Given the description of an element on the screen output the (x, y) to click on. 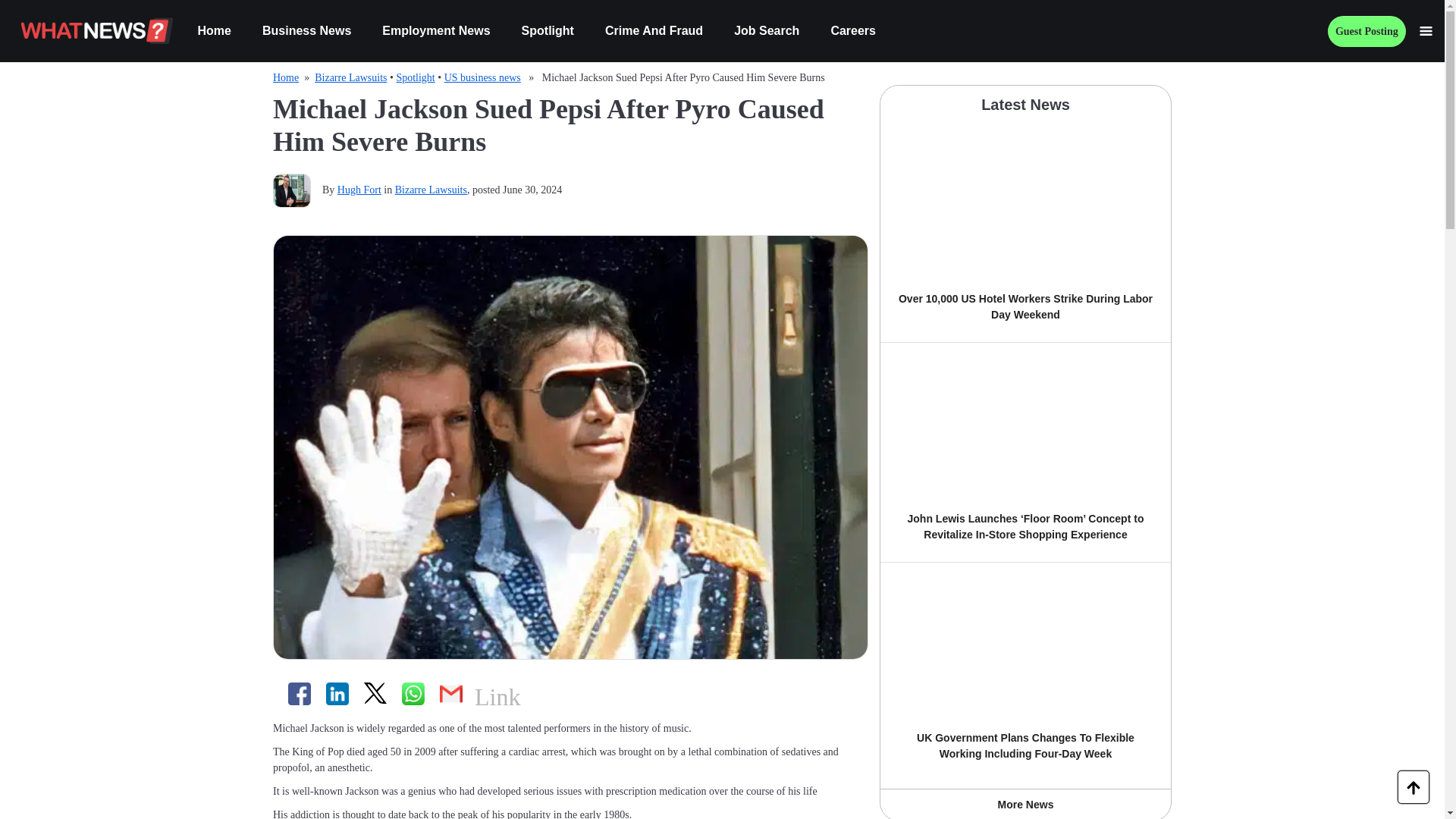
Spotlight (540, 31)
Employment News (428, 31)
Job Search (759, 31)
Employment News (428, 31)
Home (206, 31)
Spotlight (540, 31)
Business News (299, 31)
Crime And Fraud (646, 31)
Careers (845, 31)
Business News (299, 31)
